Given the description of an element on the screen output the (x, y) to click on. 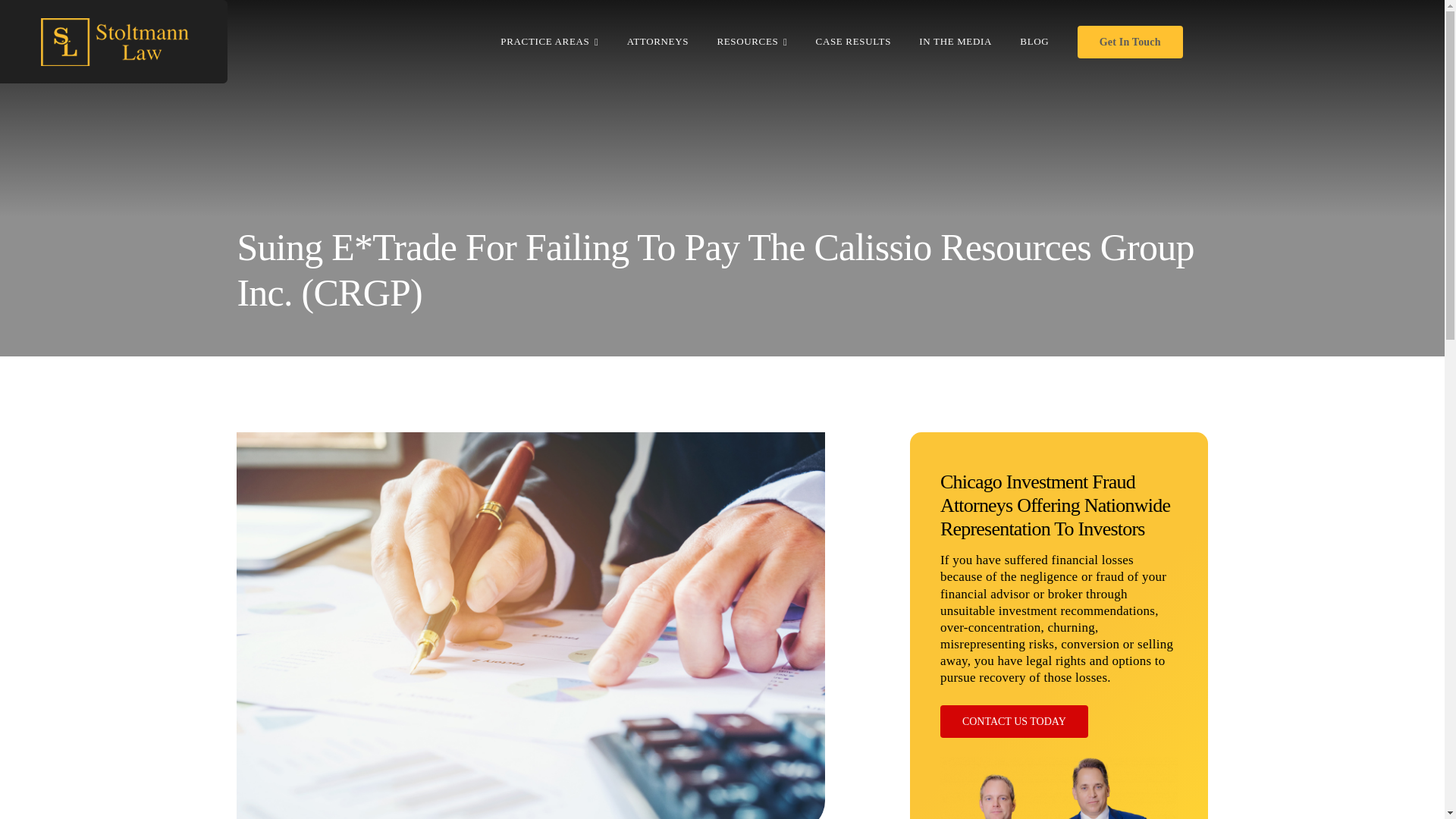
CASE RESULTS (853, 41)
PRACTICE AREAS (549, 41)
BLOG (1034, 41)
ATTORNEYS (657, 41)
Get In Touch (1129, 41)
Stoltmann Law Securities Investment Fraud Attorneys (1058, 787)
IN THE MEDIA (954, 41)
RESOURCES (751, 41)
